Given the description of an element on the screen output the (x, y) to click on. 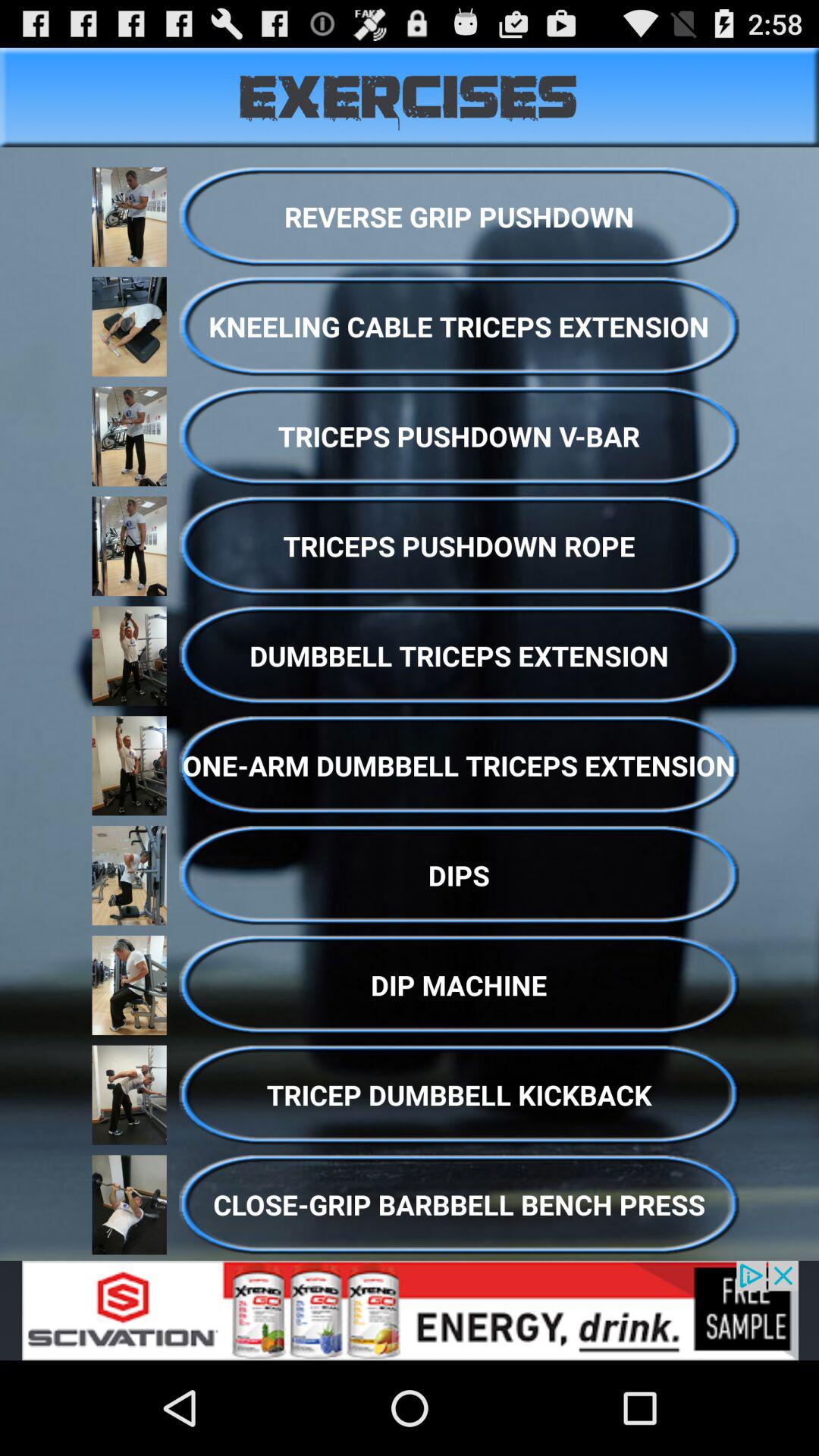
advertisement (409, 1310)
